Given the description of an element on the screen output the (x, y) to click on. 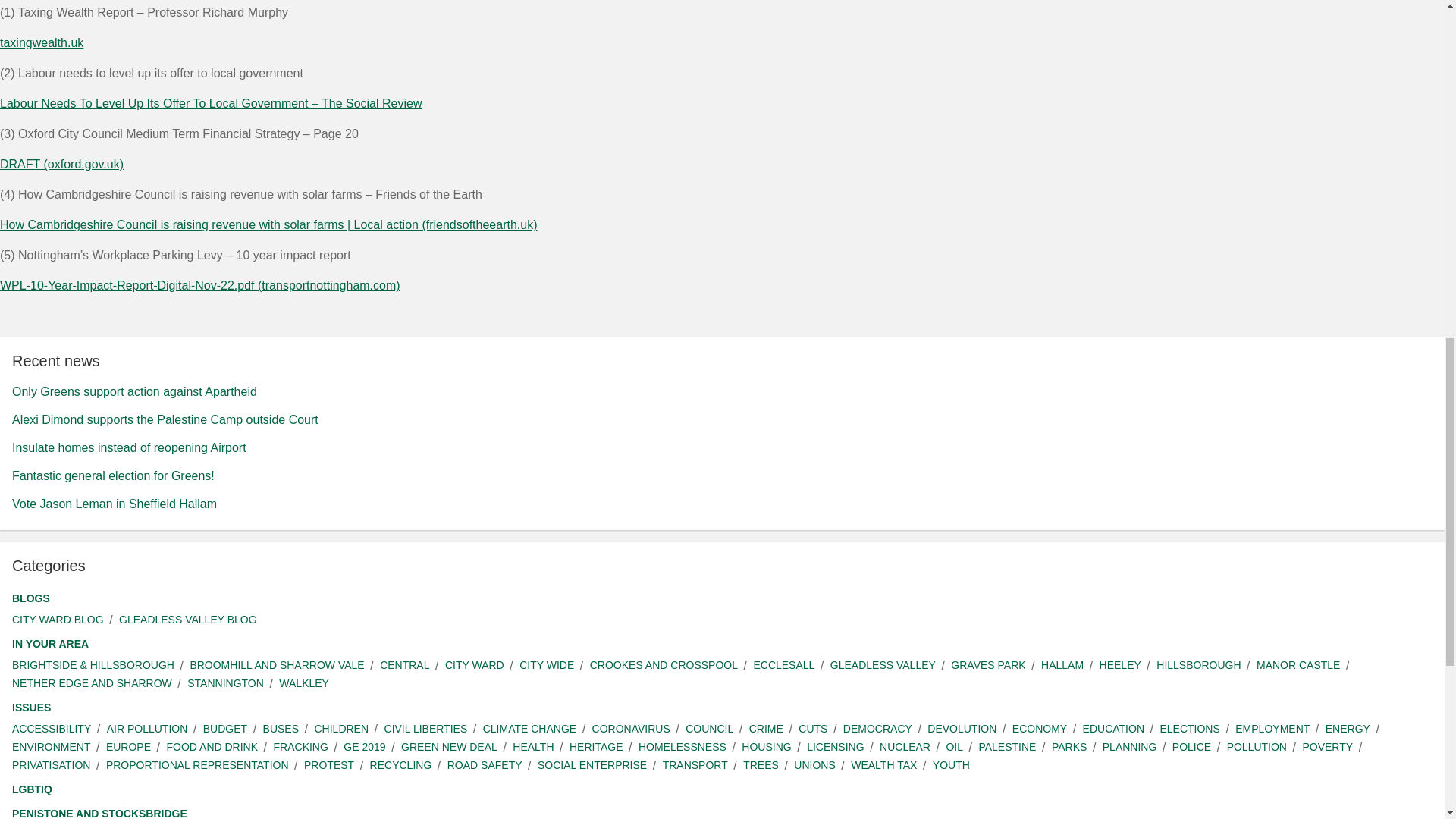
taxingwealth.uk (41, 42)
Alexi Dimond supports the Palestine Camp outside Court (164, 419)
CENTRAL (404, 665)
CITY WARD (474, 665)
Vote Jason Leman in Sheffield Hallam (113, 503)
Only Greens support action against Apartheid (134, 391)
Fantastic general election for Greens! (112, 475)
BLOGS (30, 598)
Insulate homes instead of reopening Airport (128, 447)
BROOMHILL AND SHARROW VALE (276, 665)
